Given the description of an element on the screen output the (x, y) to click on. 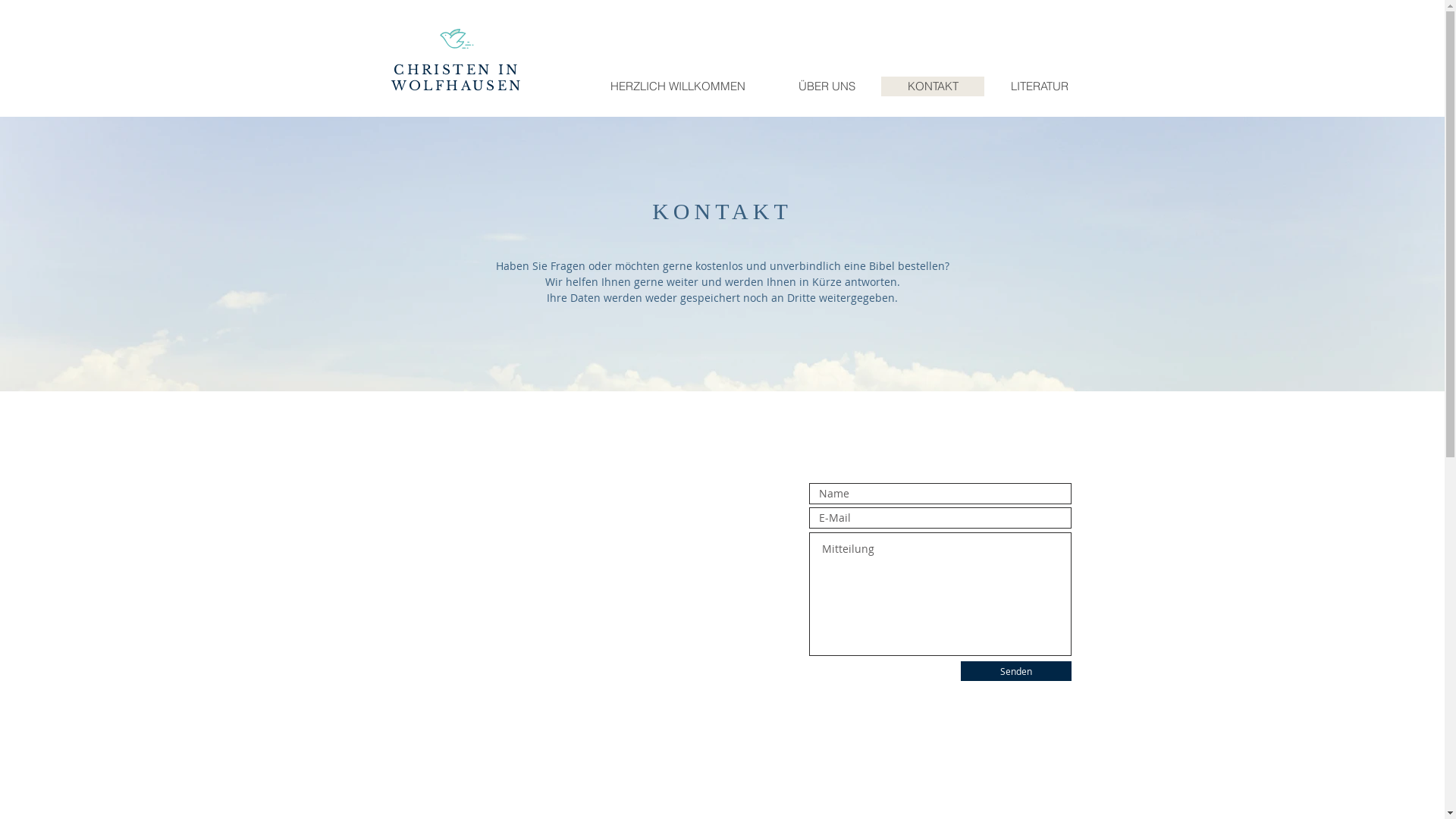
Senden Element type: text (1015, 670)
Google Maps Element type: hover (558, 640)
CHRISTEN IN WOLFHAUSEN Element type: text (457, 78)
HERZLICH WILLKOMMEN Element type: text (677, 86)
LITERATUR Element type: text (1039, 86)
KONTAKT Element type: text (932, 86)
